Given the description of an element on the screen output the (x, y) to click on. 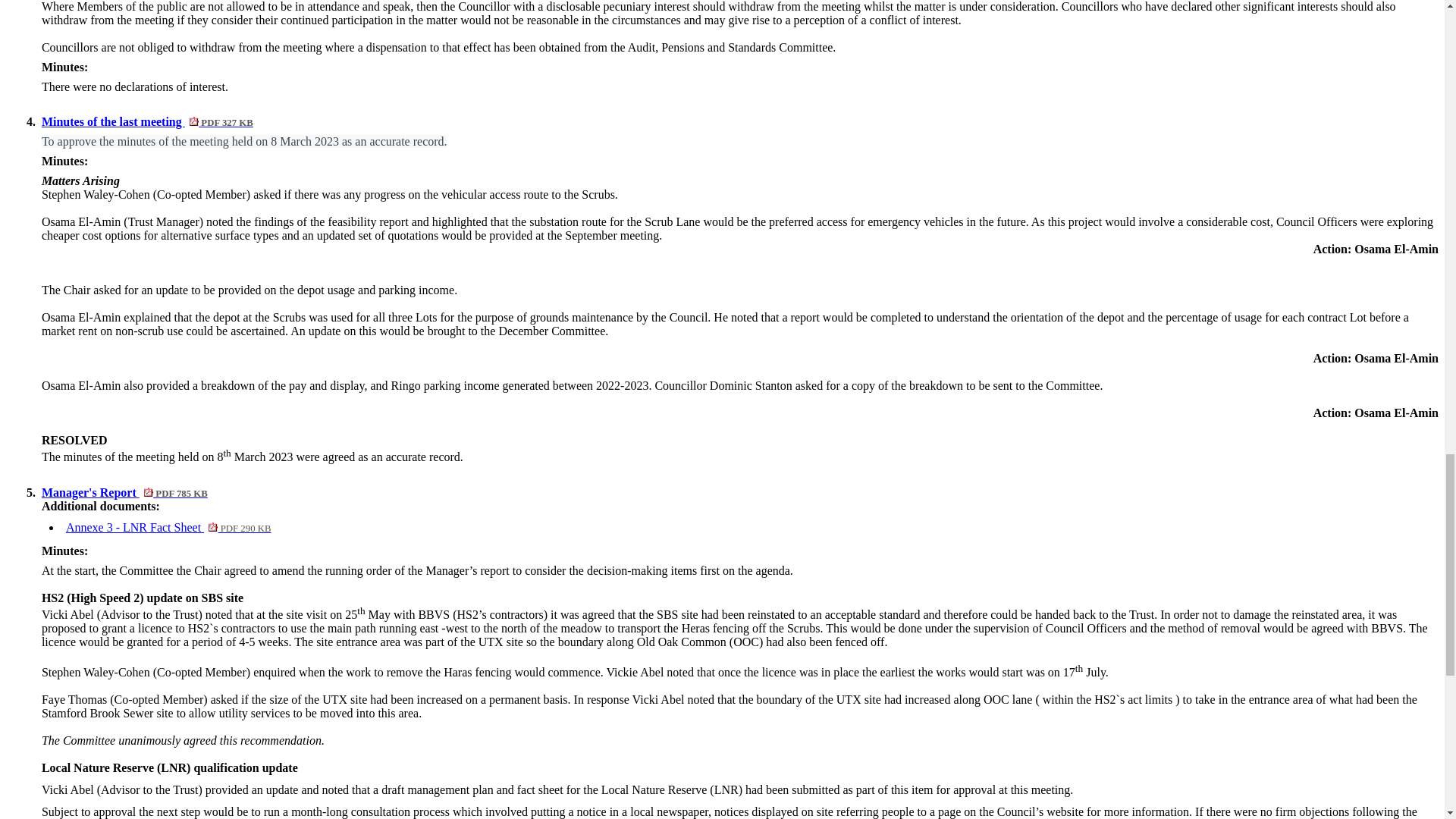
Link to document 'Annexe 3 - LNR Fact Sheet' pdf file (167, 526)
Link to document 'Minutes of the last meeting' pdf file (147, 121)
Link to document 'Manager's Report' pdf file (125, 492)
